Given the description of an element on the screen output the (x, y) to click on. 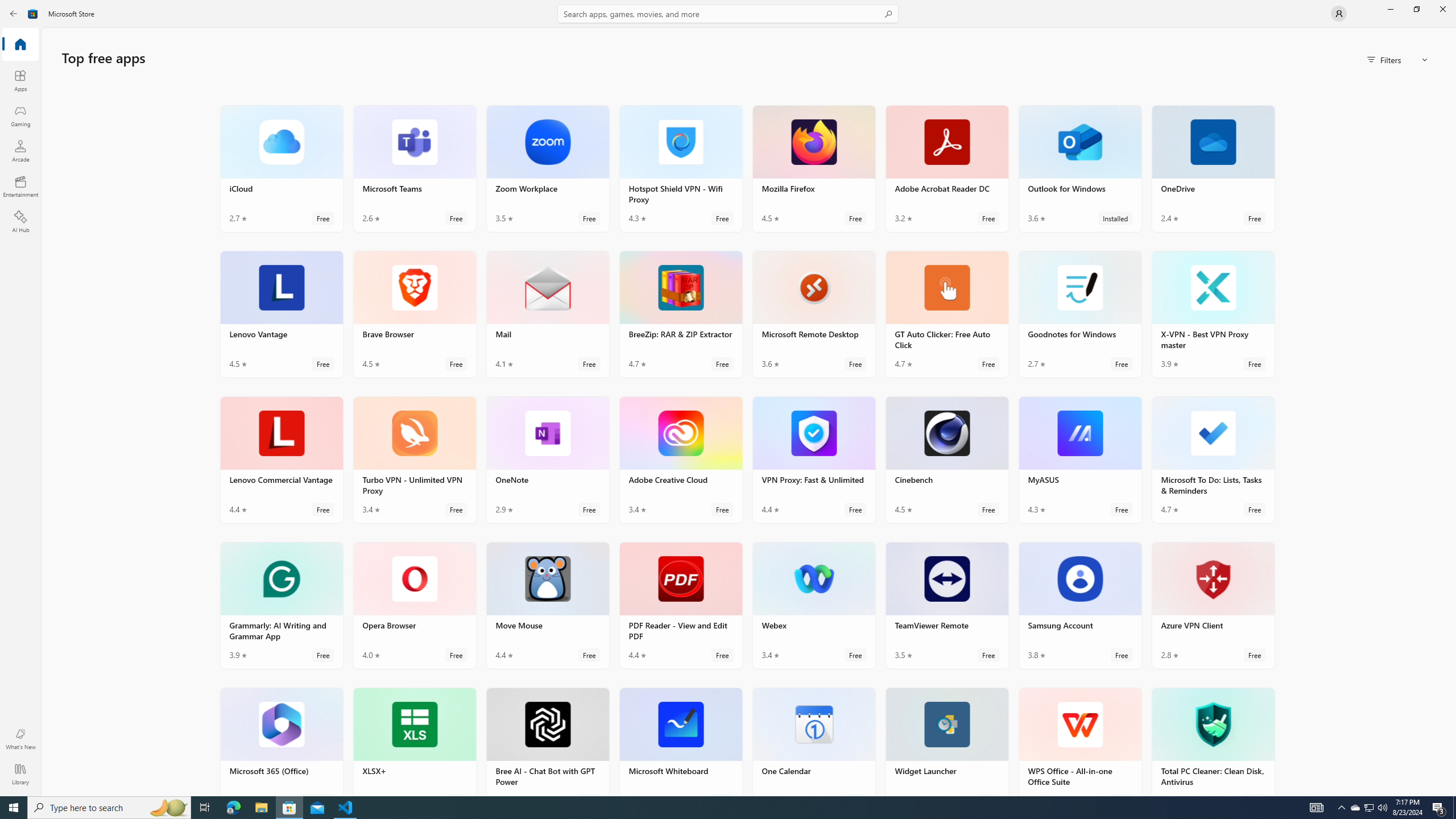
MyASUS. Average rating of 4.3 out of five stars. Free   (1079, 459)
Mail. Average rating of 4.1 out of five stars. Free   (548, 313)
Gaming (20, 115)
User profile (1338, 13)
Back (13, 13)
Restore Microsoft Store (1416, 9)
